Given the description of an element on the screen output the (x, y) to click on. 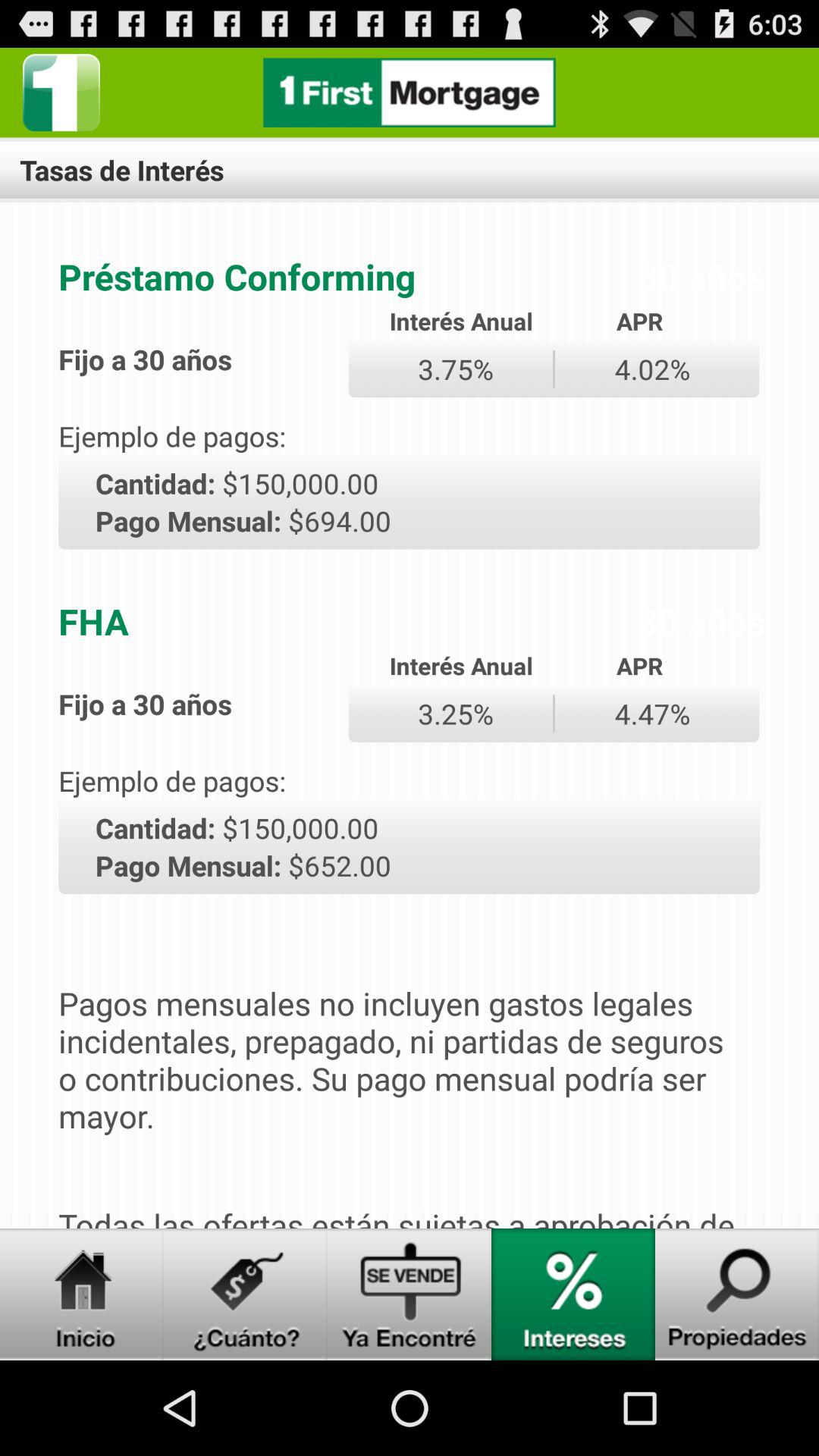
show the economic intereses (573, 1294)
